Given the description of an element on the screen output the (x, y) to click on. 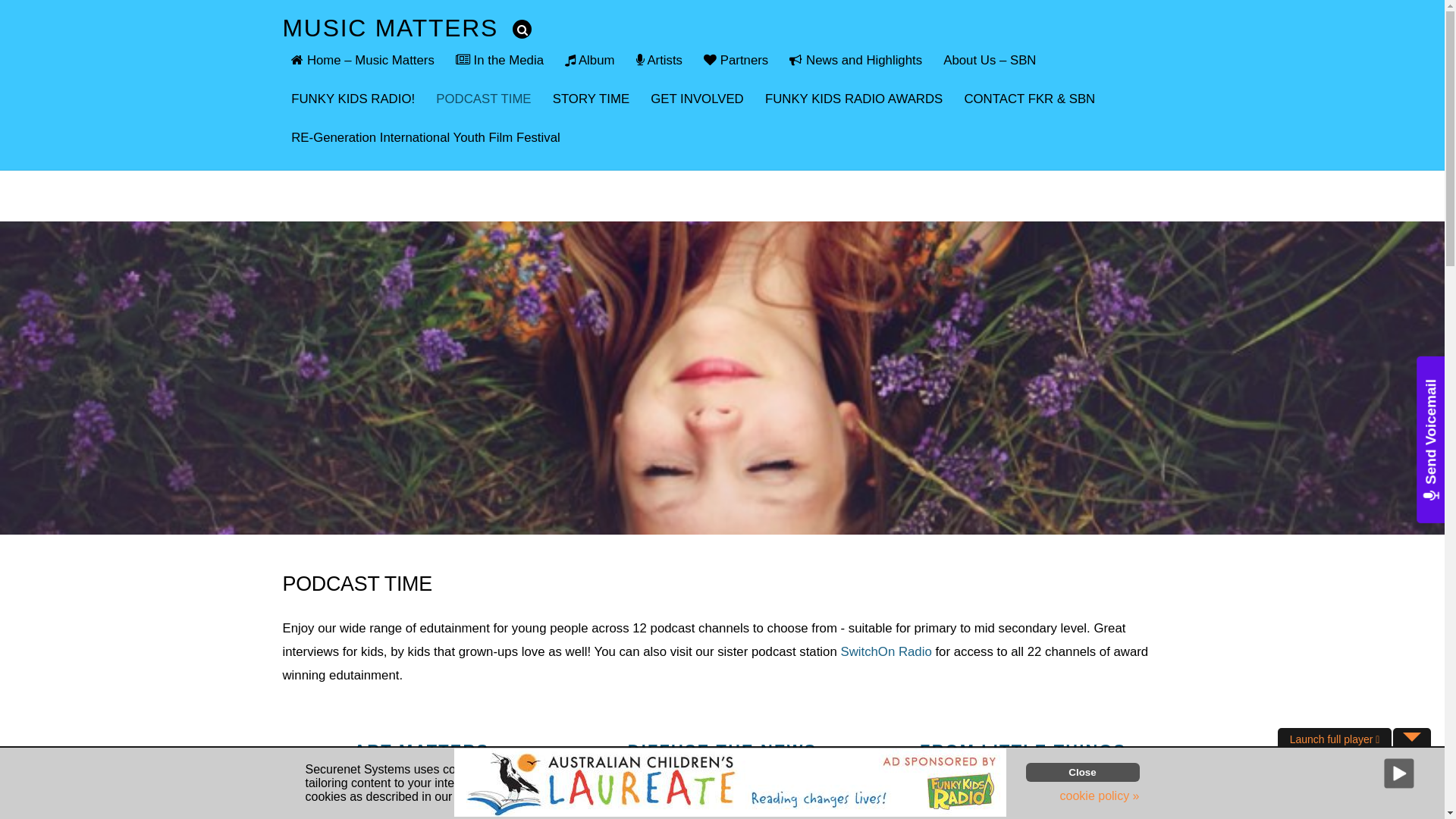
FUNKY KIDS RADIO AWARDS Element type: text (853, 98)
FUNKY KIDS RADIO! Element type: text (352, 98)
MUSIC MATTERS Element type: text (390, 27)
DIFFUSE THE NEWS Element type: text (722, 749)
STORY TIME Element type: text (590, 98)
FROM LITTLE THINGS Element type: text (1022, 749)
Artists Element type: text (659, 59)
SwitchOn Radio Element type: text (885, 651)
RE-Generation International Youth Film Festival Element type: text (425, 137)
Album Element type: text (589, 59)
CONTACT FKR & SBN Element type: text (1029, 98)
Partners Element type: text (735, 59)
News and Highlights Element type: text (856, 59)
ART MATTERS Element type: text (421, 749)
GET INVOLVED Element type: text (696, 98)
PODCAST TIME Element type: text (483, 98)
In the Media Element type: text (499, 59)
